Given the description of an element on the screen output the (x, y) to click on. 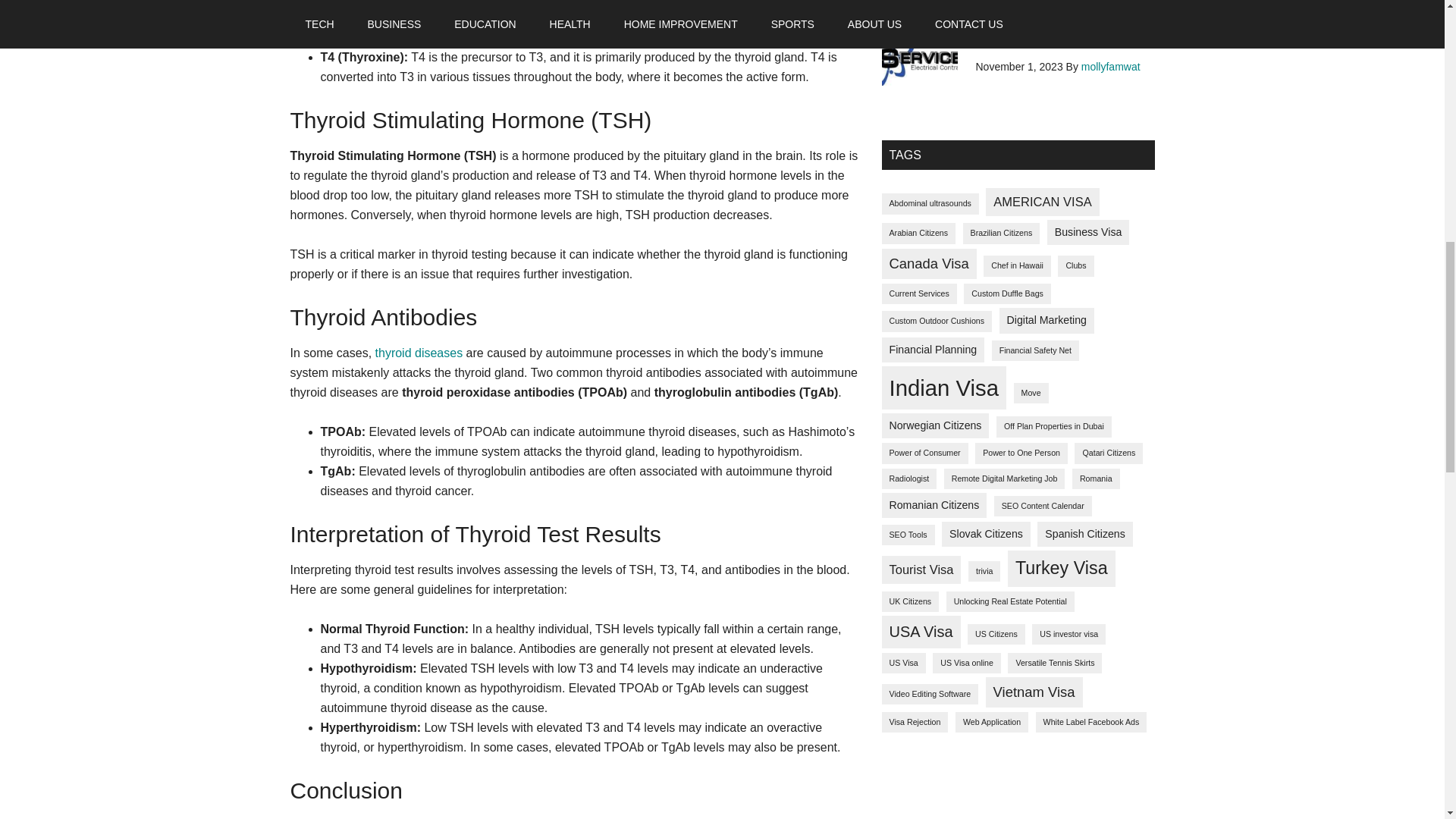
thyroid diseases (419, 352)
